Given the description of an element on the screen output the (x, y) to click on. 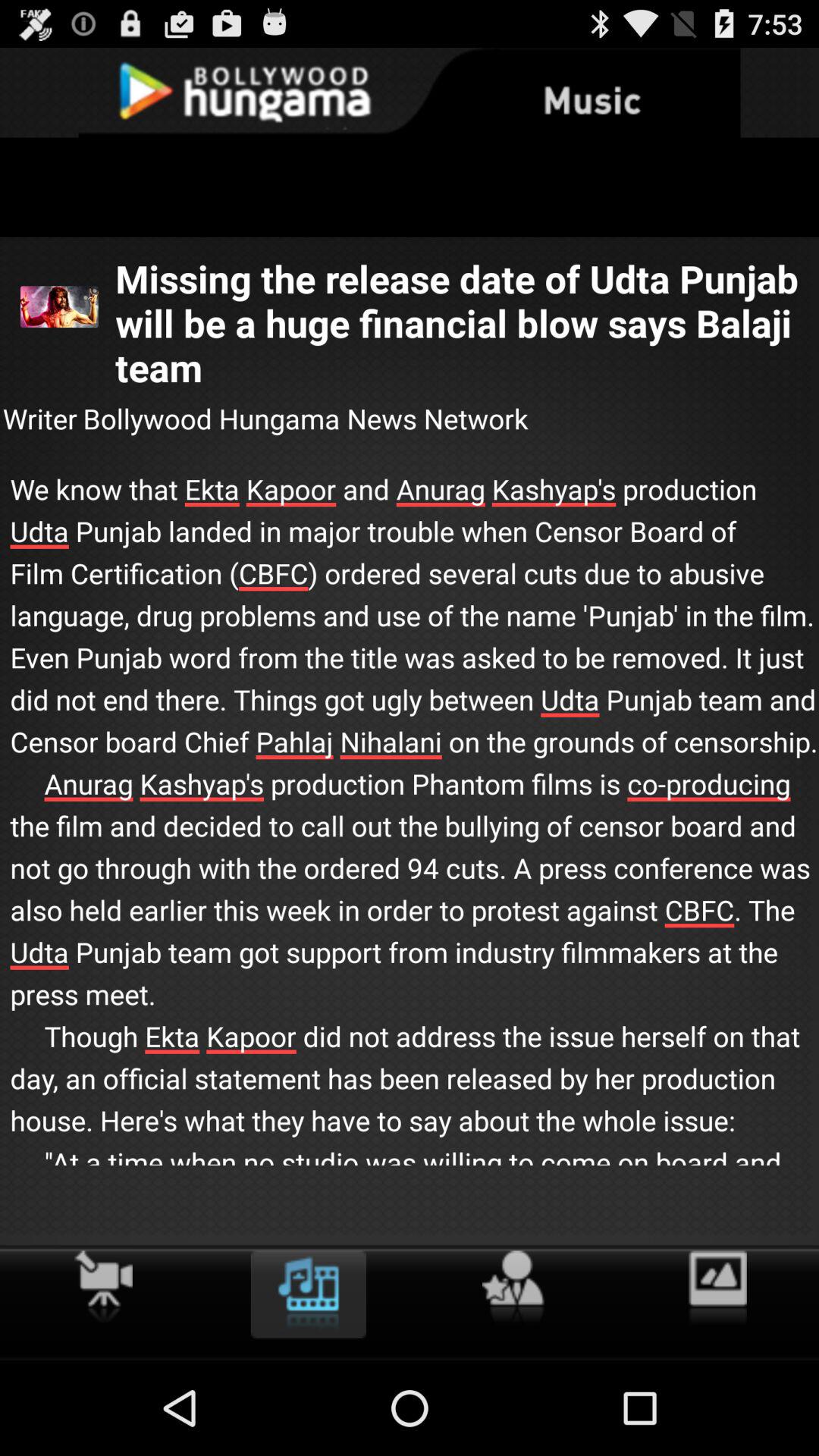
film mode (103, 1286)
